Given the description of an element on the screen output the (x, y) to click on. 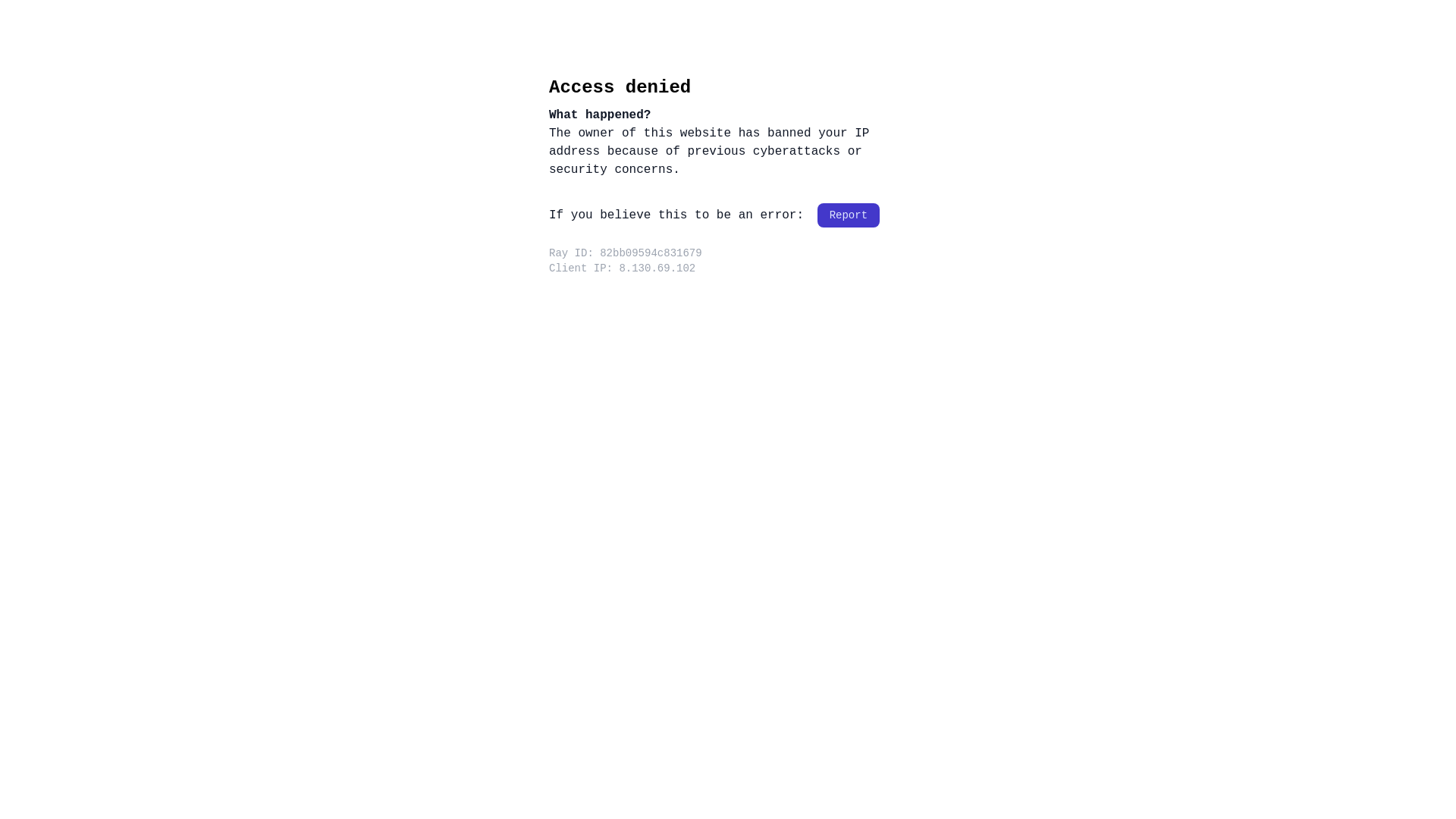
Report Element type: text (848, 215)
